Given the description of an element on the screen output the (x, y) to click on. 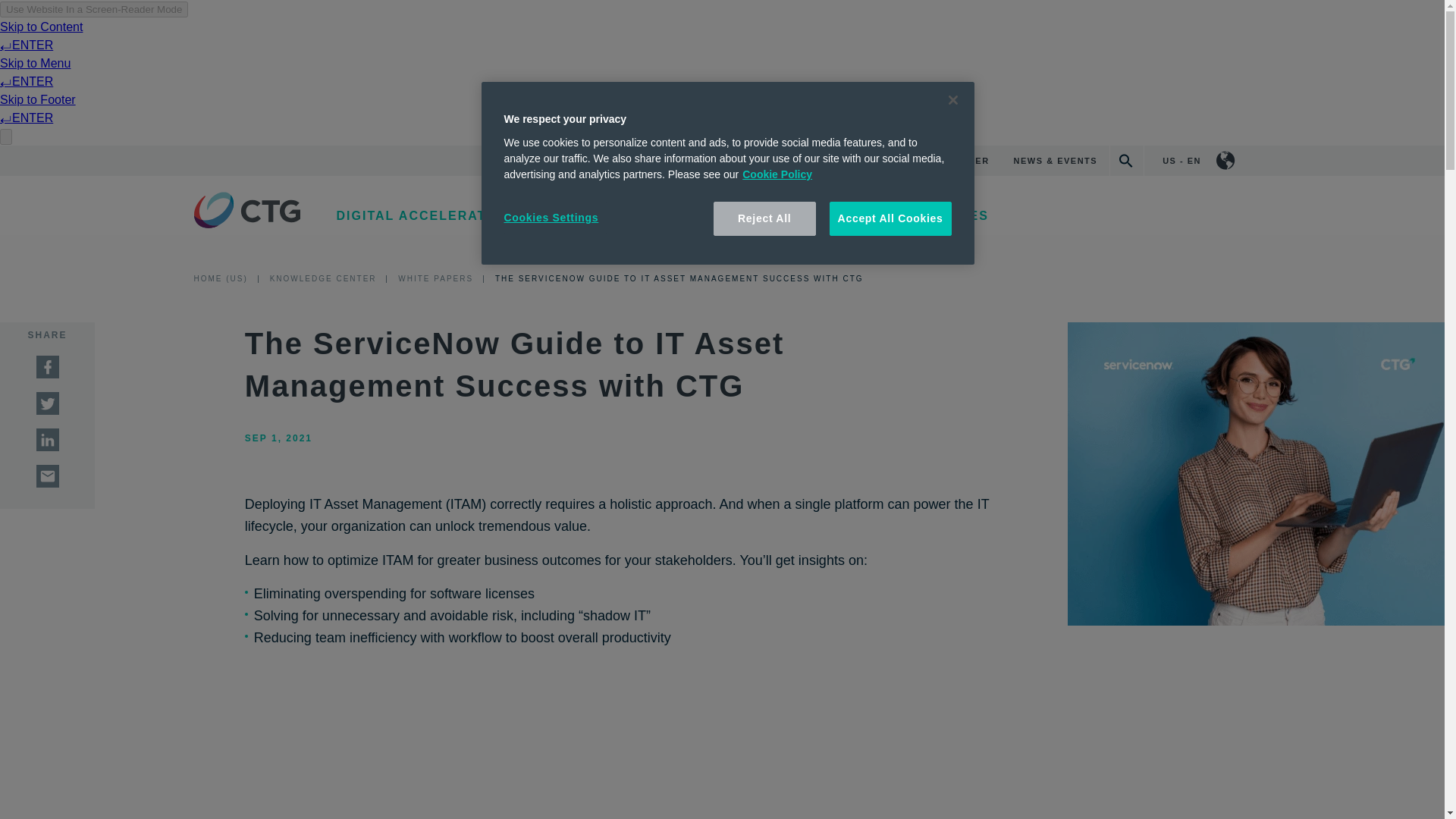
About Us (755, 160)
CAREERS (829, 160)
Careers (829, 160)
Knowledge Center (934, 160)
SOLUTIONS (586, 215)
Form 1 (623, 758)
DIGITAL ACCELERATORS (426, 215)
ABOUT US (755, 160)
KNOWLEDGE CENTER (934, 160)
